Given the description of an element on the screen output the (x, y) to click on. 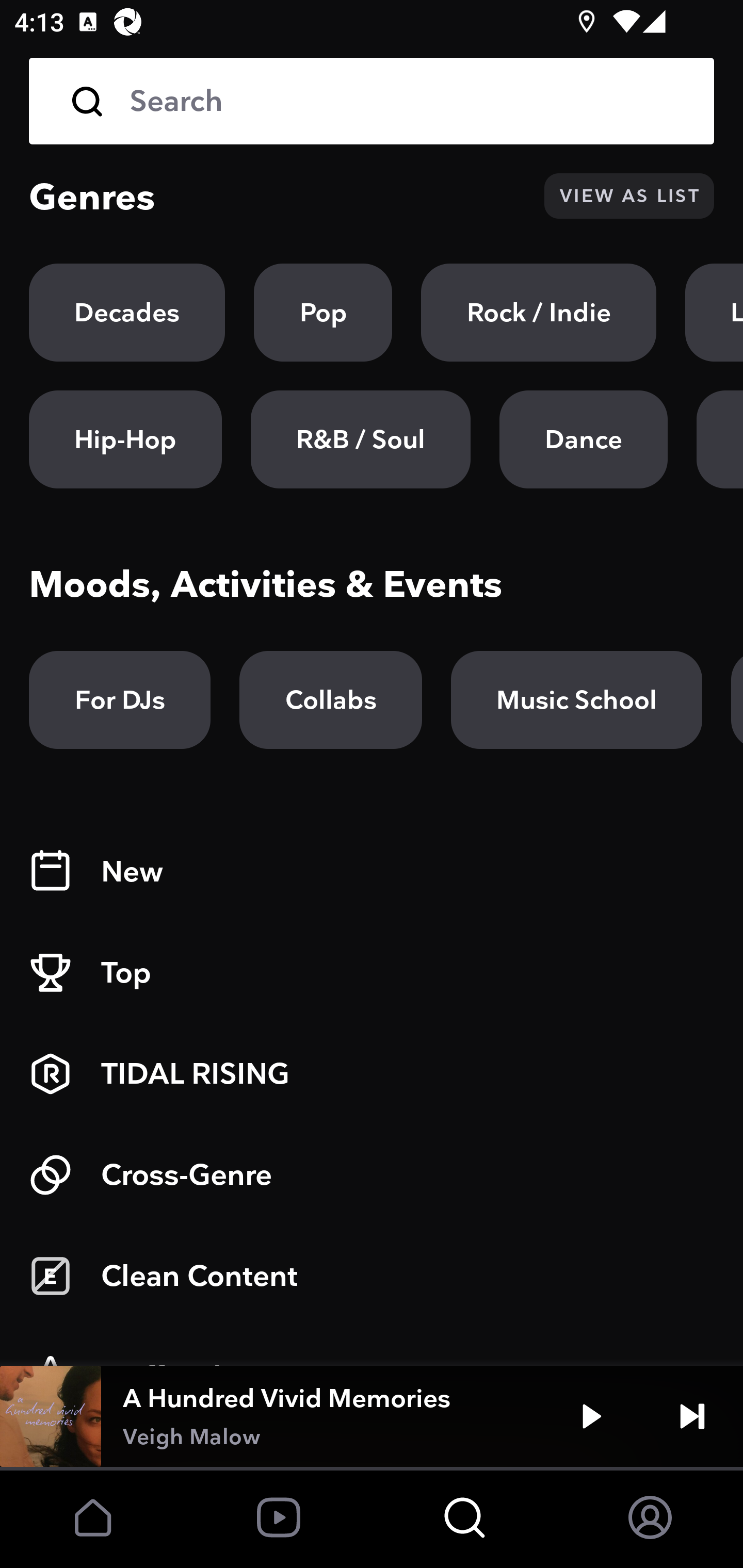
Search (371, 101)
Search (407, 100)
VIEW AS LIST (629, 195)
Decades (126, 312)
Pop (323, 312)
Rock / Indie (538, 312)
Hip-Hop (125, 439)
R&B / Soul (360, 439)
Dance (583, 439)
For DJs (119, 699)
Collabs (330, 699)
Music School (576, 699)
New (371, 871)
Top (371, 972)
TIDAL RISING (371, 1073)
Cross-Genre (371, 1175)
Clean Content (371, 1276)
A Hundred Vivid Memories Veigh Malow Play (371, 1416)
Play (590, 1416)
